Given the description of an element on the screen output the (x, y) to click on. 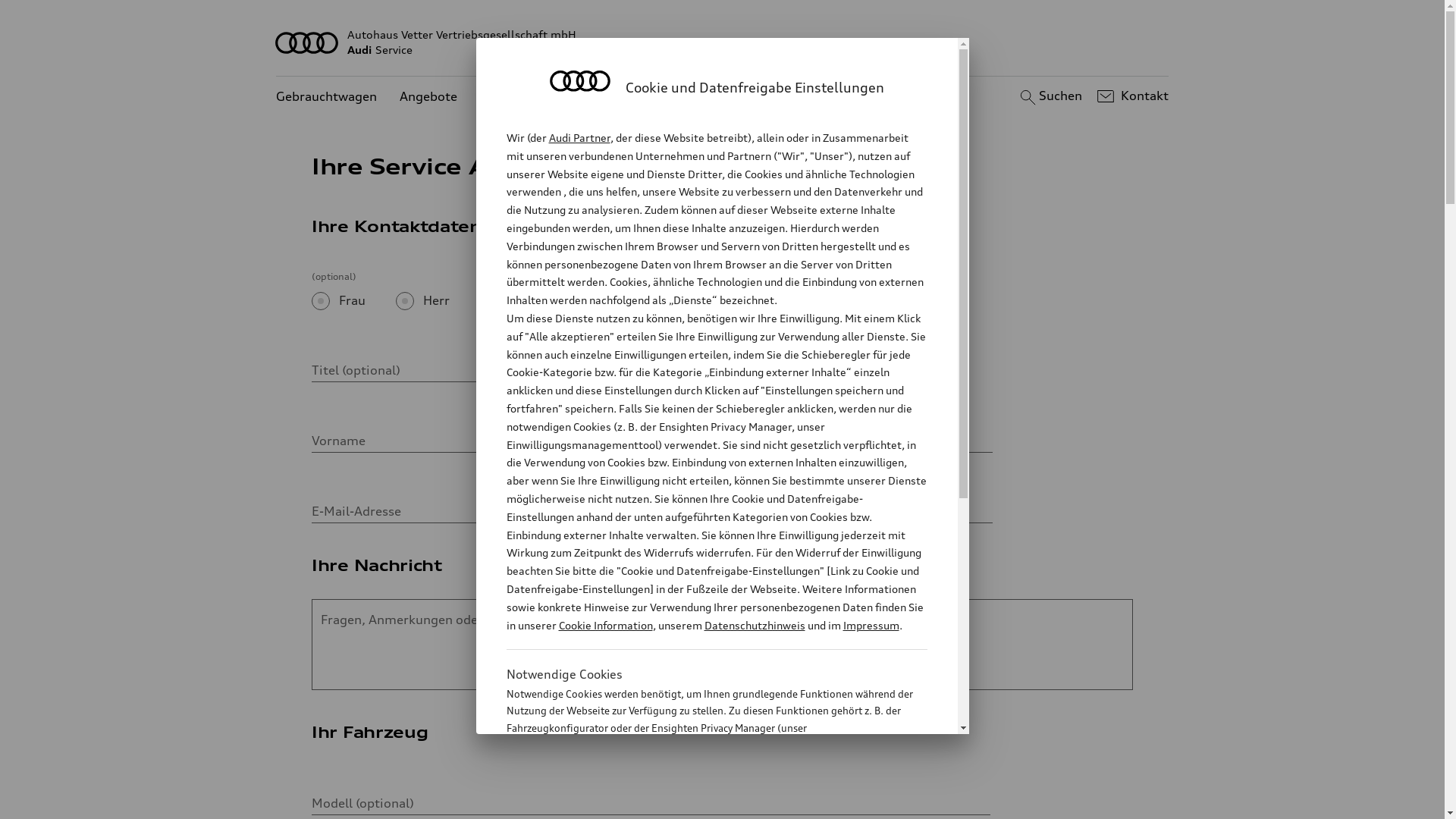
Kontakt Element type: text (1130, 96)
Cookie Information Element type: text (700, 802)
Suchen Element type: text (1049, 96)
Cookie Information Element type: text (605, 624)
Autohaus Vetter Vertriebsgesellschaft mbH
AudiService Element type: text (722, 42)
Impressum Element type: text (871, 624)
Gebrauchtwagen Element type: text (326, 96)
Kundenservice Element type: text (523, 96)
Angebote Element type: text (428, 96)
Audi Partner Element type: text (579, 137)
Datenschutzhinweis Element type: text (753, 624)
